Given the description of an element on the screen output the (x, y) to click on. 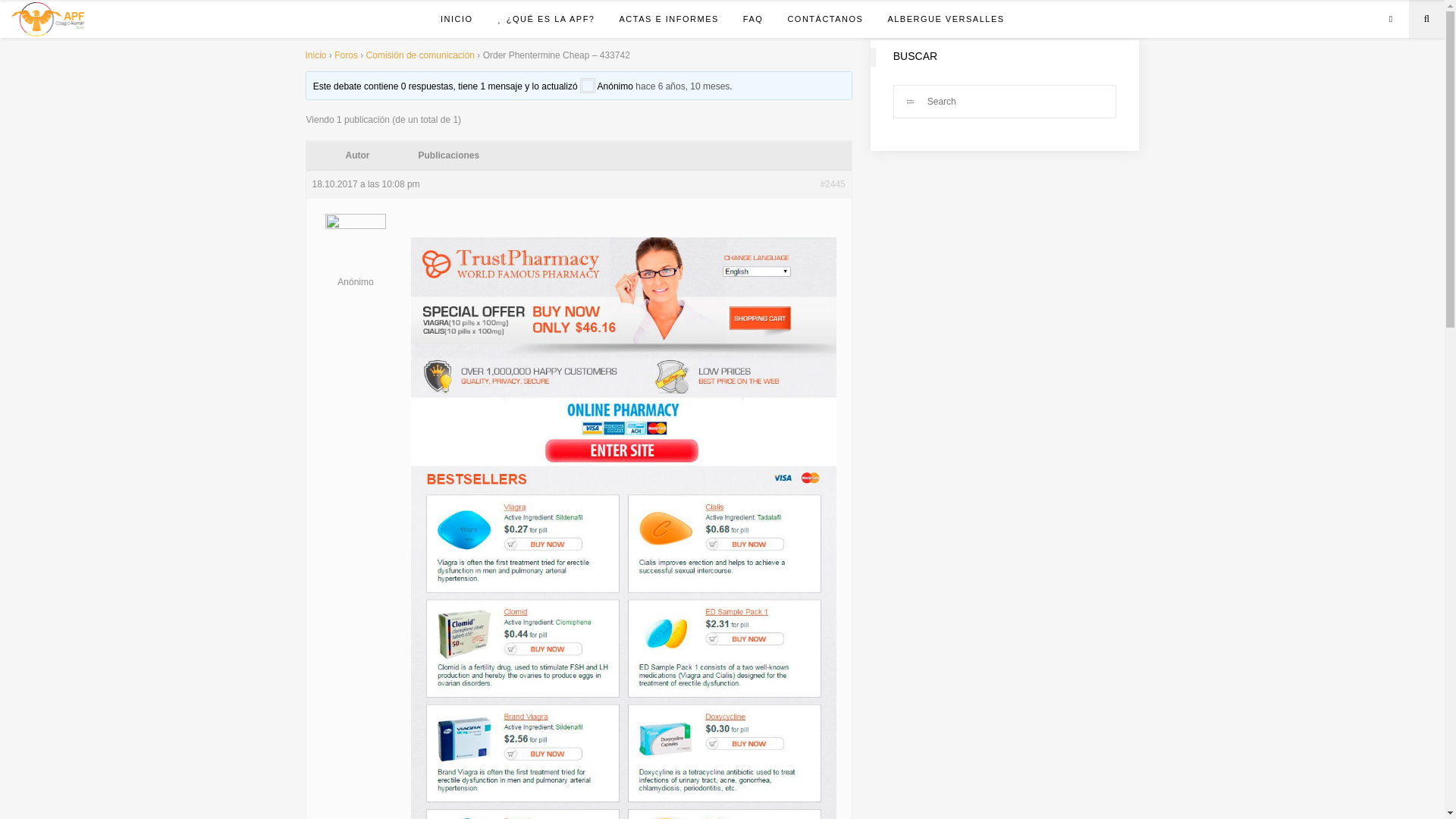
INICIO (456, 18)
Foros (346, 54)
ALBERGUE VERSALLES (945, 18)
ACTAS E INFORMES (668, 18)
Inicio (315, 54)
FAQ (753, 18)
